Given the description of an element on the screen output the (x, y) to click on. 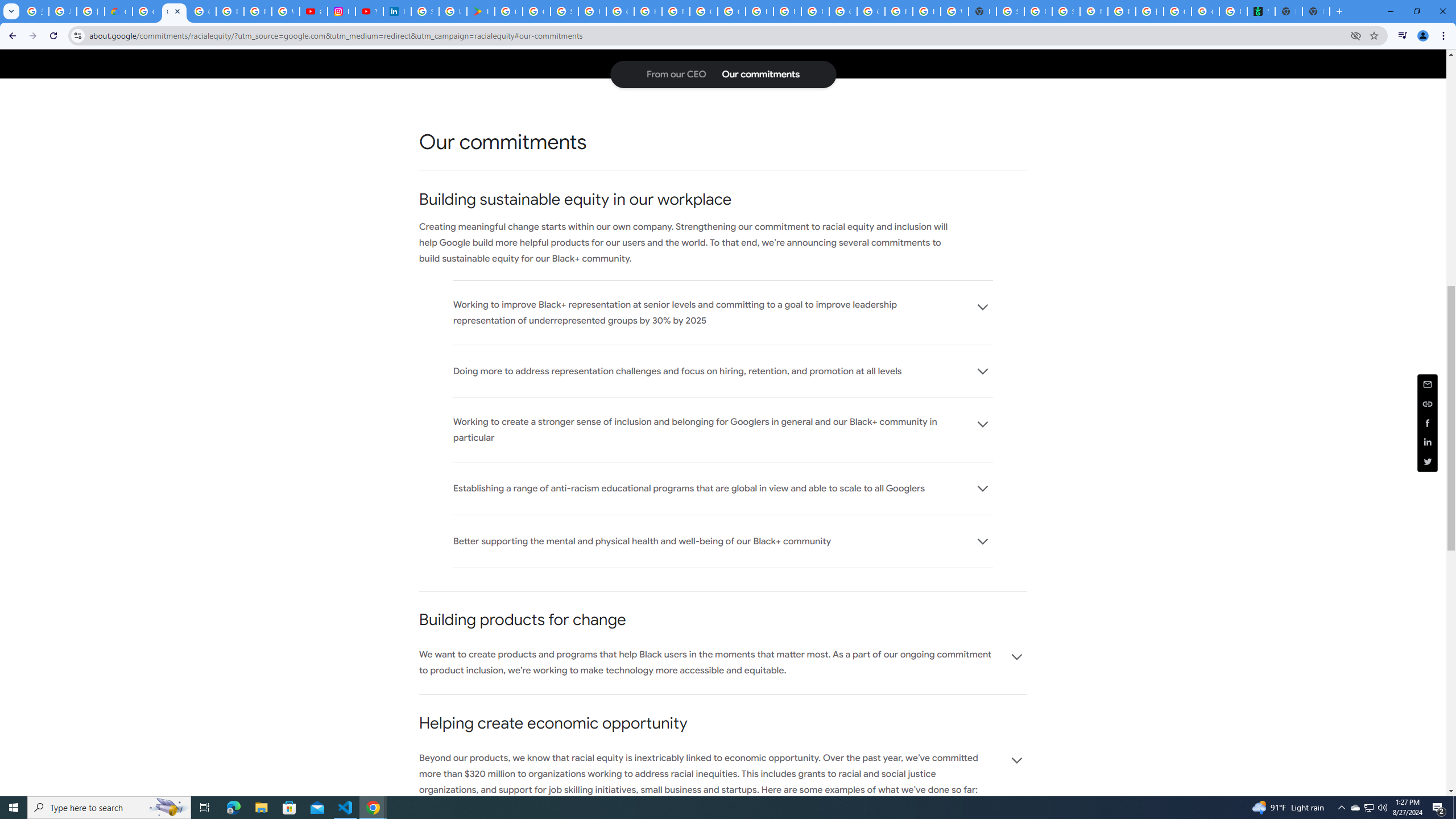
Browse Chrome as a guest - Computer - Google Chrome Help (898, 11)
